Given the description of an element on the screen output the (x, y) to click on. 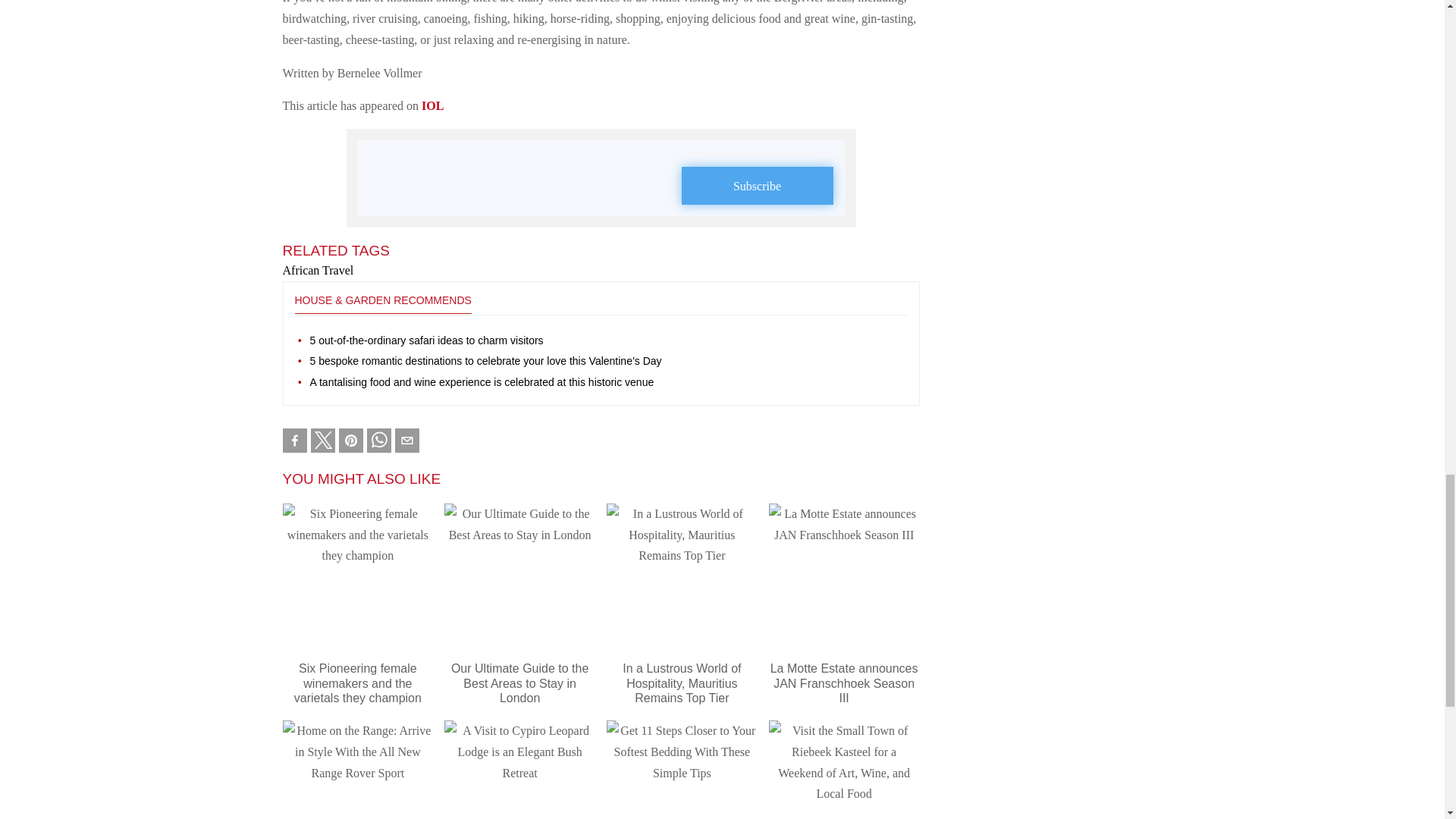
A Visit to Cypiro Leopard Lodge is an Elegant Bush Retreat (519, 769)
IOL (433, 105)
Subscribe (756, 185)
Share on Twitter (322, 440)
5 out-of-the-ordinary safari ideas to charm visitors (607, 340)
African Travel (317, 269)
